Given the description of an element on the screen output the (x, y) to click on. 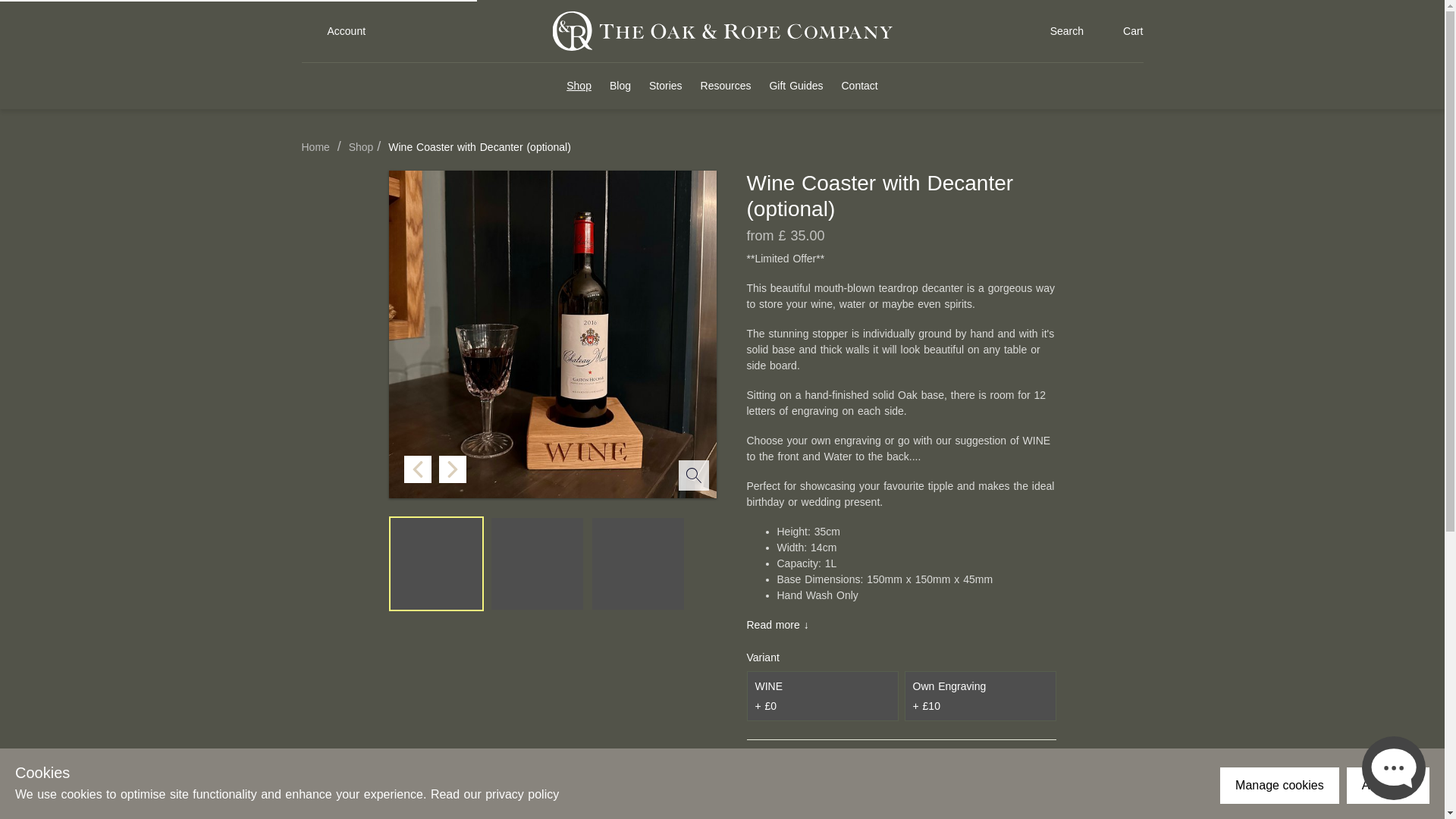
Contact (859, 85)
Cart (1119, 30)
Home (315, 146)
Manage cookies (1279, 785)
Gift Guides (795, 85)
Start chat (1393, 768)
Resources (725, 85)
Stories (665, 85)
Accept all (1387, 785)
Shop (359, 146)
Shop (578, 85)
Blog (620, 85)
Read our privacy policy (494, 793)
Home (315, 146)
Shop (359, 146)
